Given the description of an element on the screen output the (x, y) to click on. 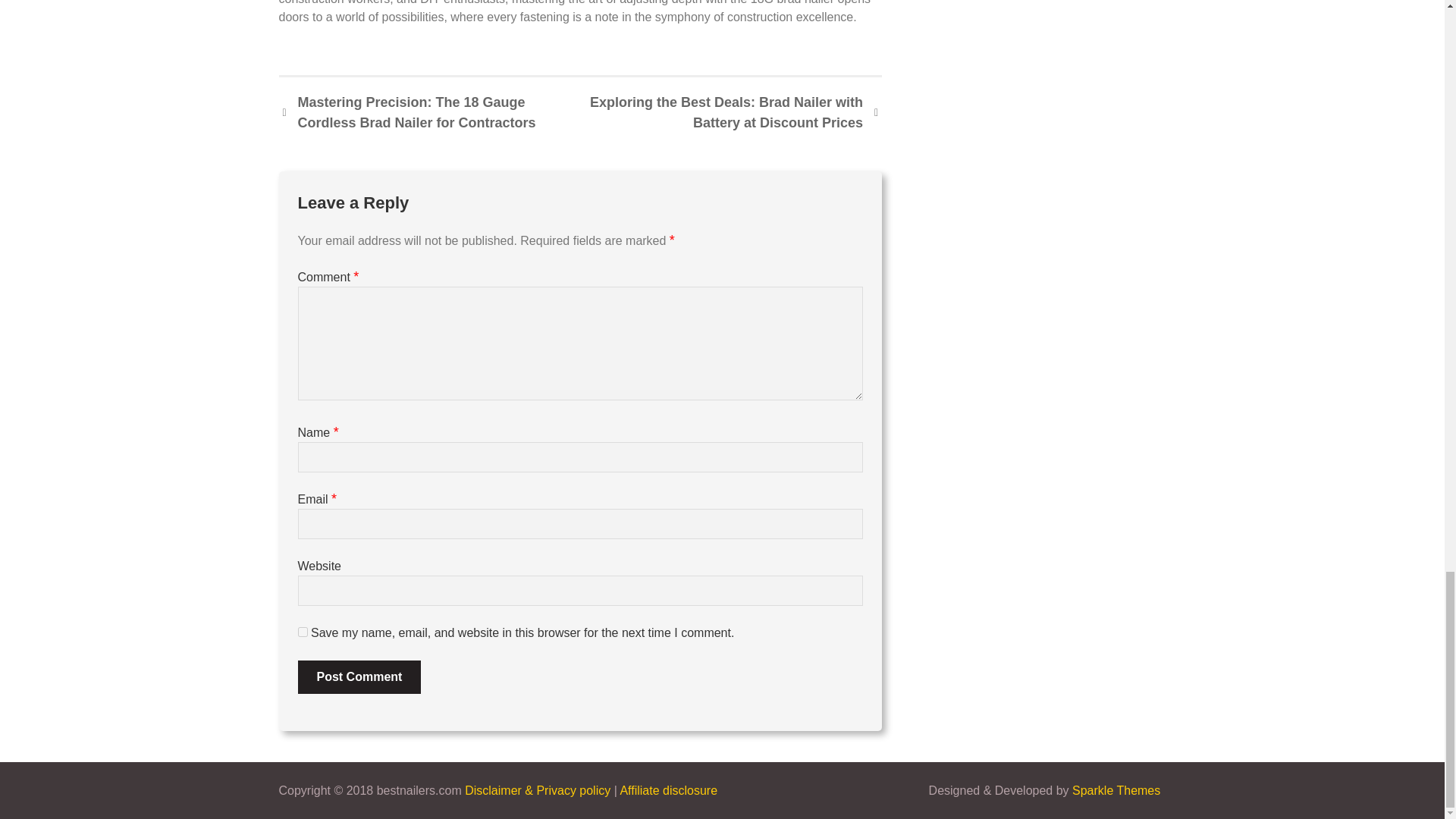
yes (302, 632)
Post Comment (358, 676)
